Given the description of an element on the screen output the (x, y) to click on. 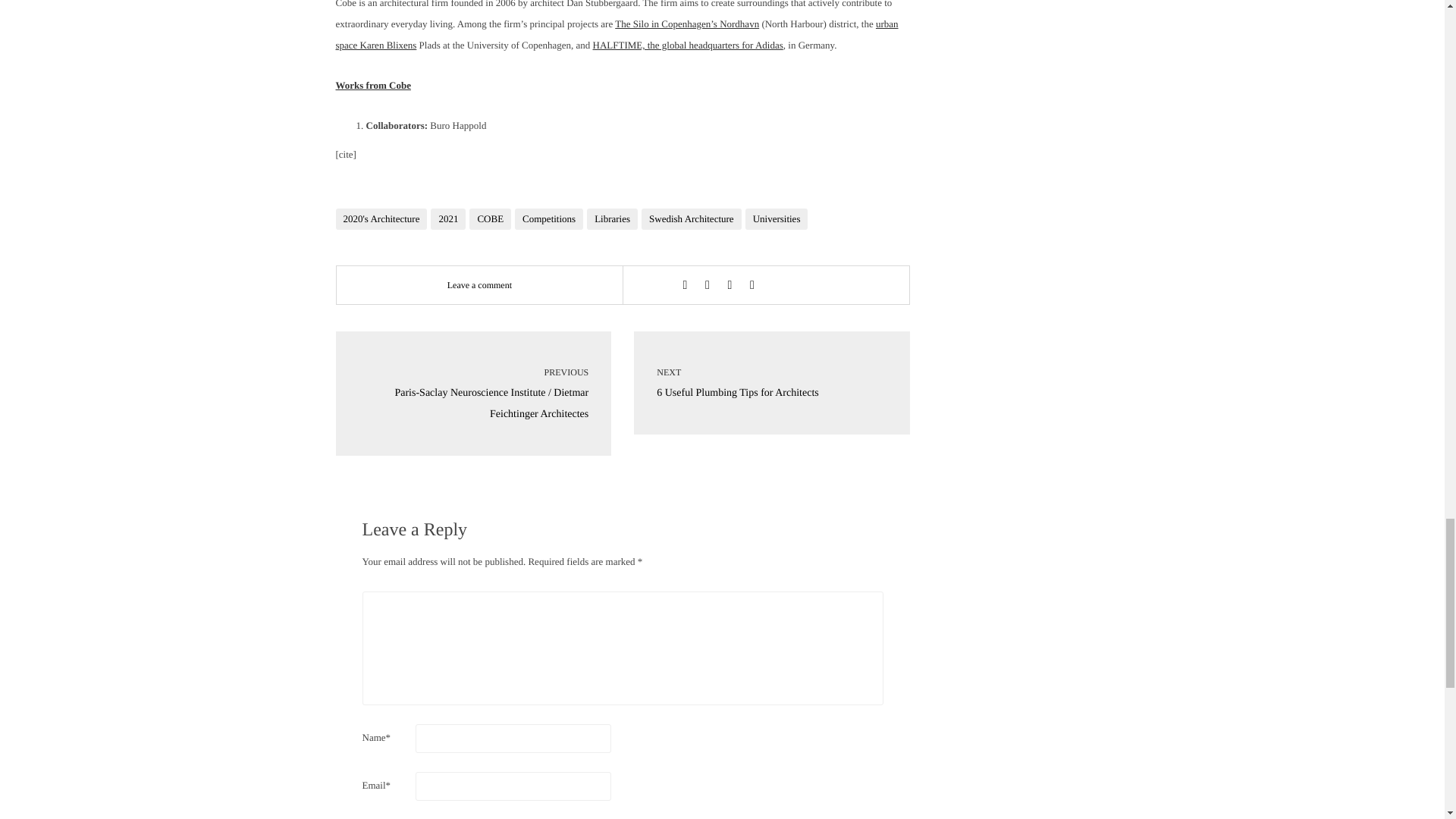
Share with Google Plus (729, 285)
Pin this (751, 285)
Works from Cobe (372, 84)
Tweet this (707, 285)
Share this (684, 285)
urban space Karen Blixens (616, 34)
HALFTIME, the global headquarters for Adidas (687, 44)
